Given the description of an element on the screen output the (x, y) to click on. 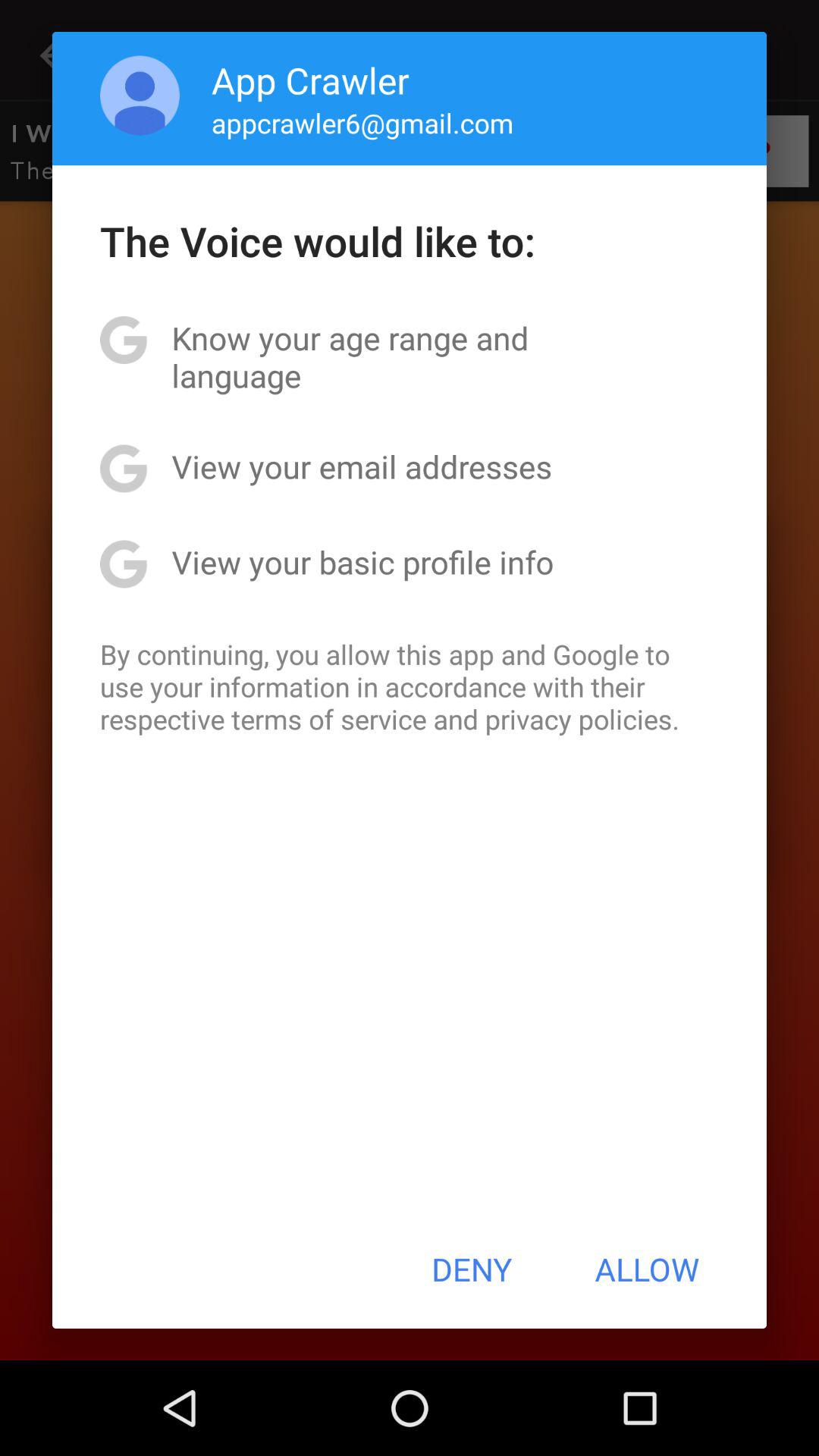
turn off app below by continuing you (471, 1268)
